Given the description of an element on the screen output the (x, y) to click on. 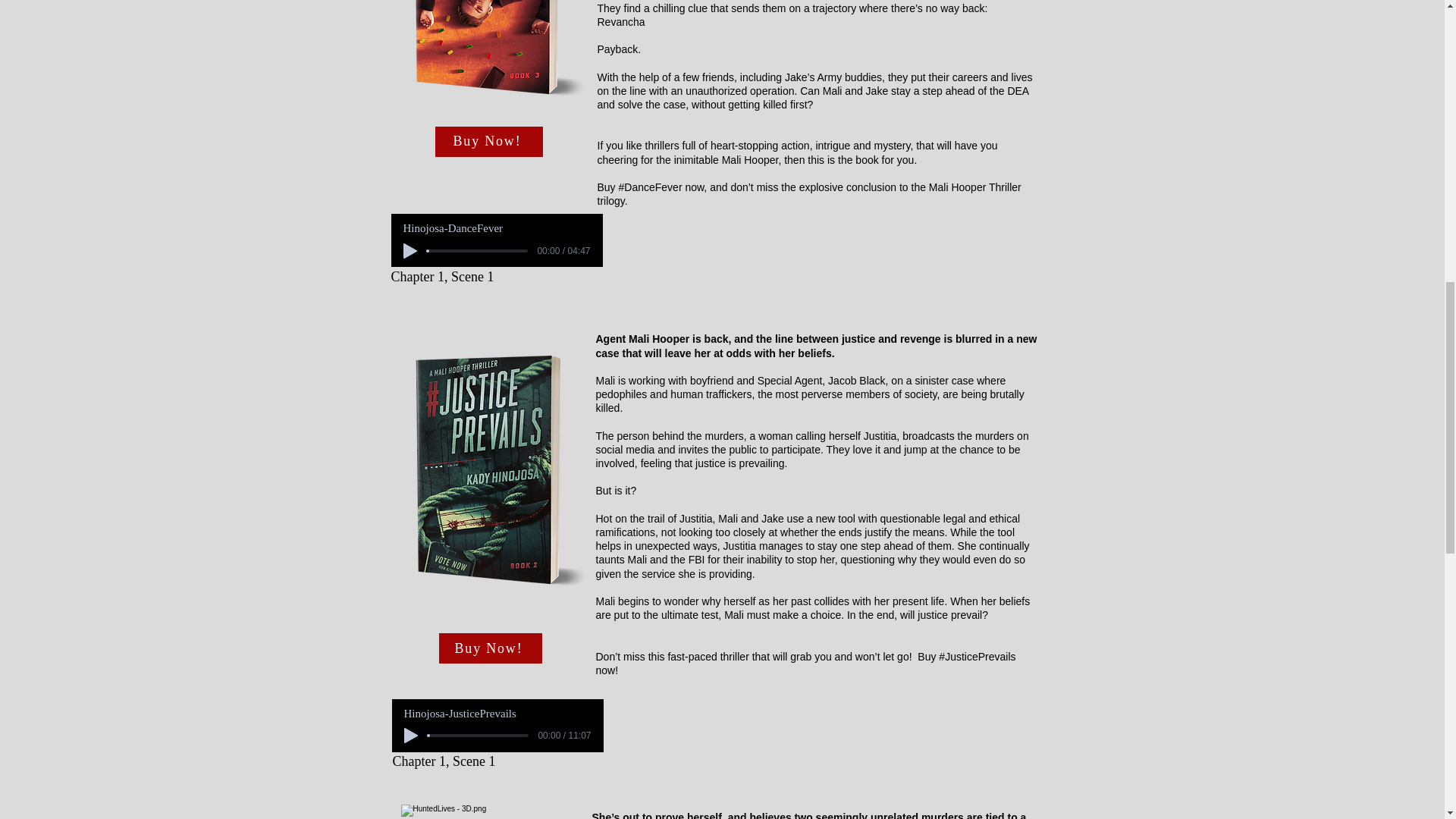
0 (478, 735)
Buy Now! (489, 141)
0 (478, 250)
Buy Now! (489, 648)
